Given the description of an element on the screen output the (x, y) to click on. 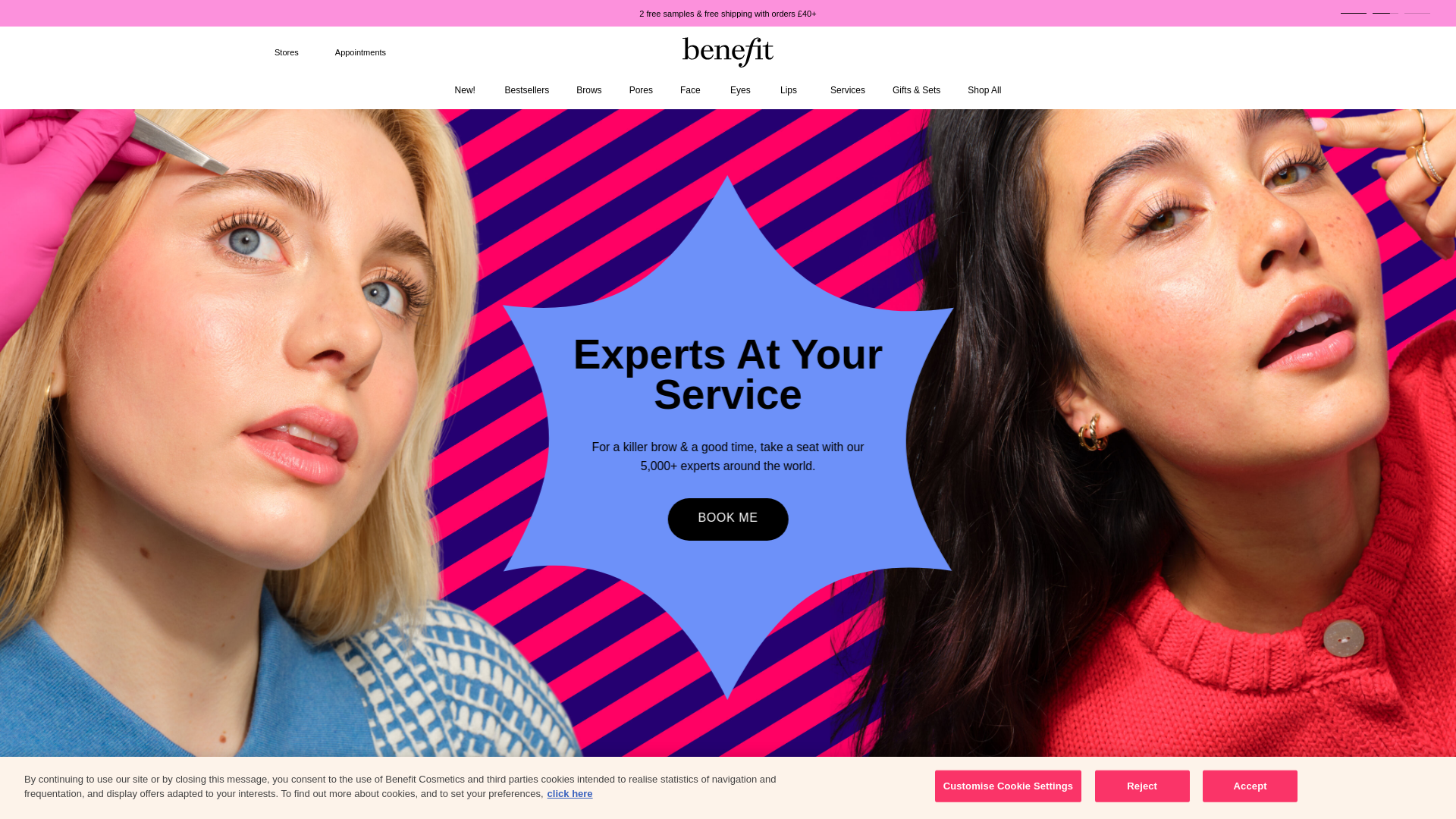
Stores (275, 52)
Commerce Cloud Storefront Reference Architecture Home (727, 51)
Brows (588, 94)
Bestsellers (527, 94)
New! (465, 94)
Appointments (349, 52)
Play (1446, 13)
Pause (1441, 13)
